Given the description of an element on the screen output the (x, y) to click on. 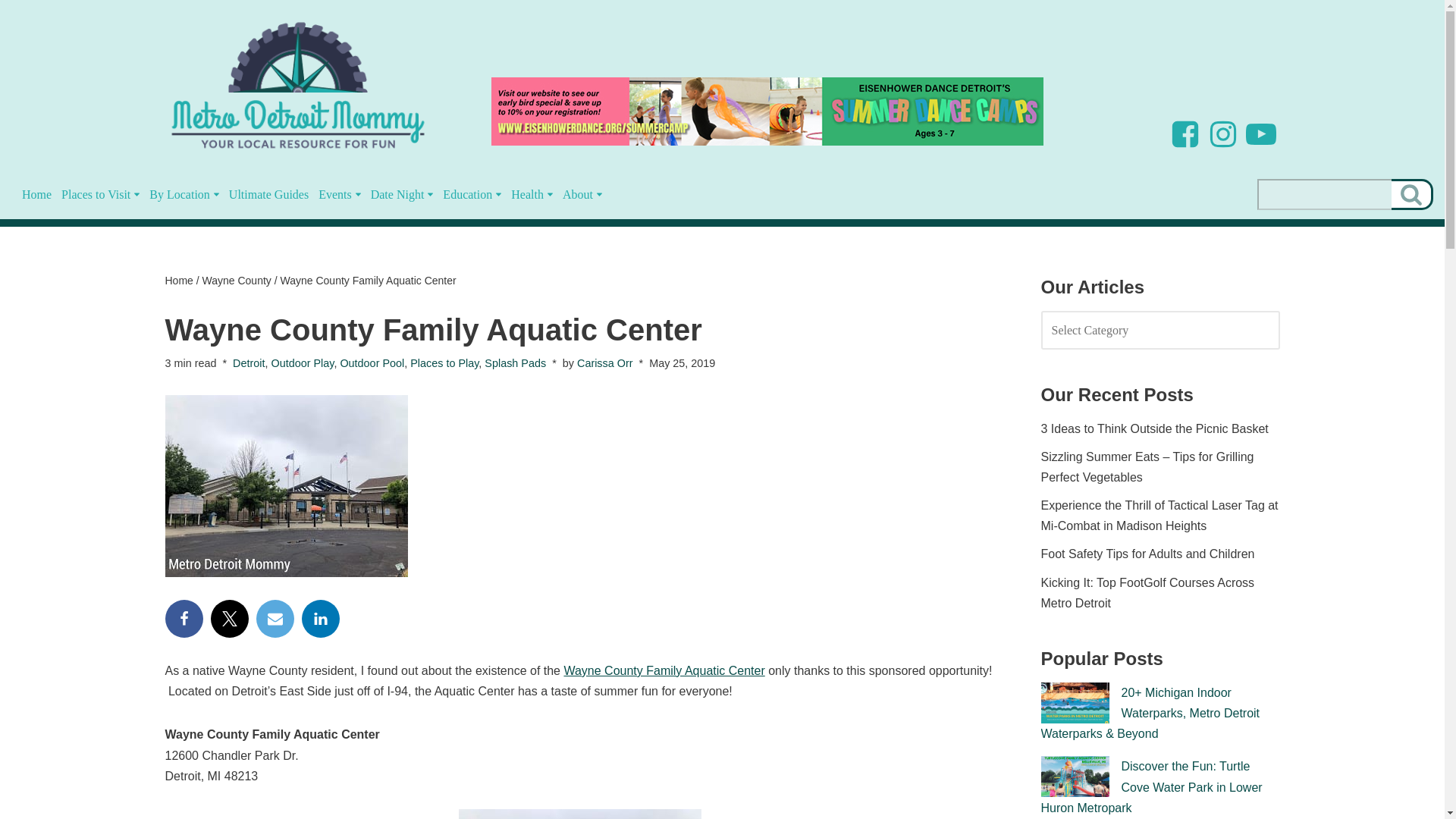
Posts by Carissa Orr (604, 363)
Home (35, 194)
Instagram (1222, 134)
Facebook (184, 618)
Email (275, 618)
Facebook (1185, 134)
Youtube (1260, 134)
Twitter (229, 618)
Places to Visit (96, 194)
Skip to content (11, 31)
